Given the description of an element on the screen output the (x, y) to click on. 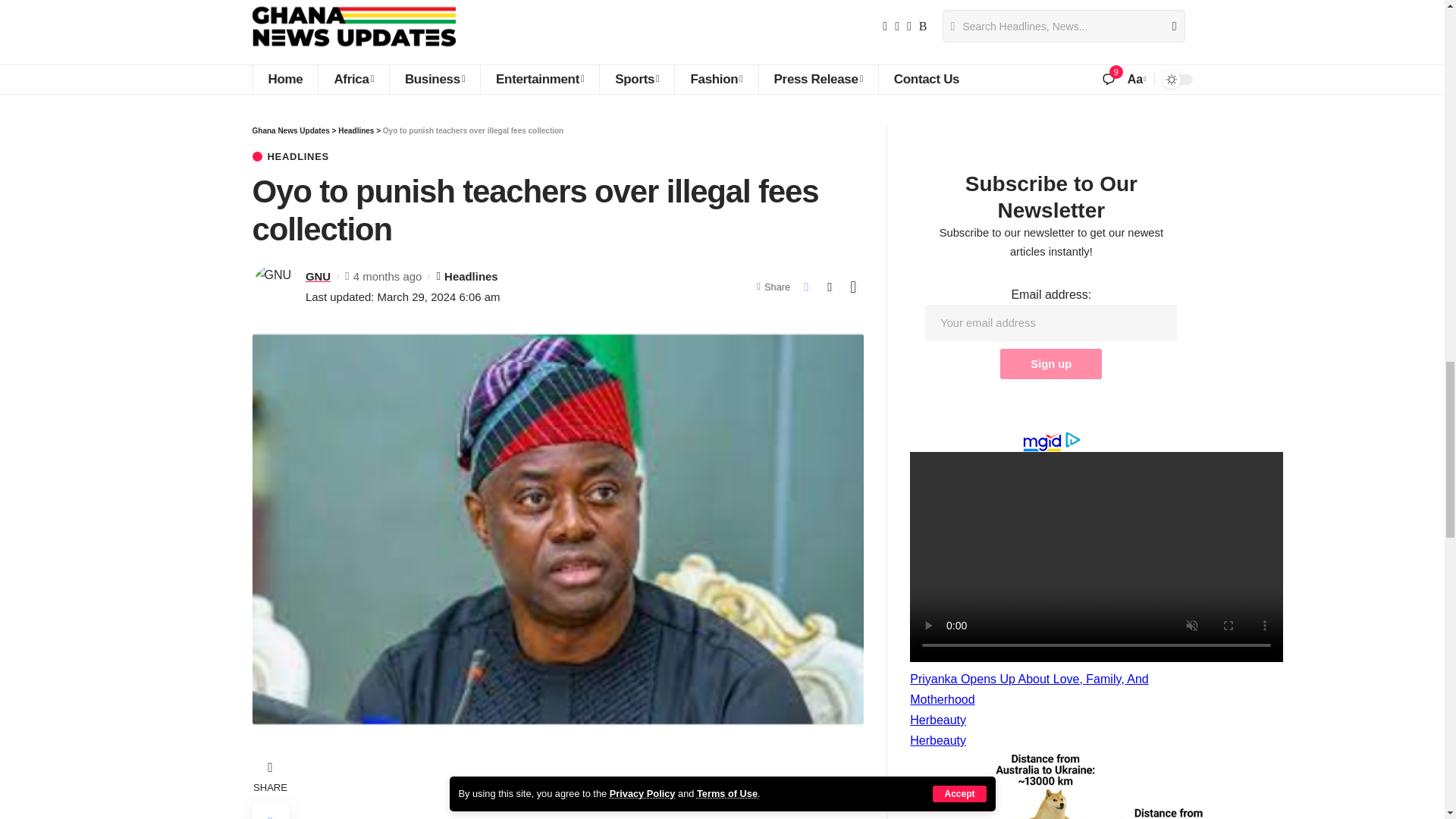
Sign up (1051, 363)
Search (1168, 26)
Ghana News Updates (353, 26)
Home (284, 79)
Business (434, 79)
Entertainment (539, 79)
Africa (352, 79)
